Given the description of an element on the screen output the (x, y) to click on. 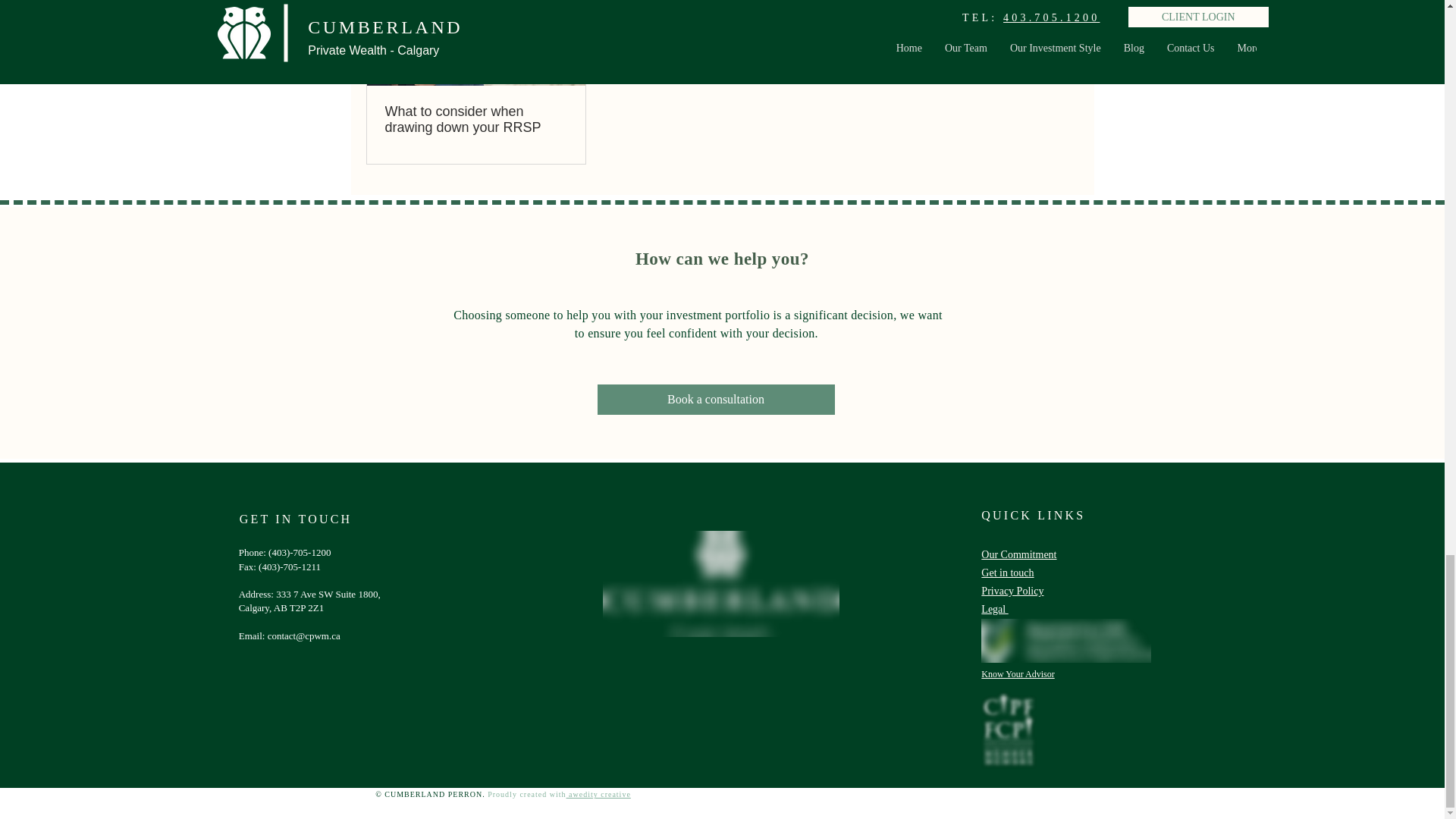
Privacy Policy (1012, 591)
Legal  (994, 609)
Our Commitment (1019, 554)
Get in touch (1007, 572)
Know Your Advisor (1017, 674)
 awedity creative (598, 794)
Book a consultation (715, 399)
What to consider when drawing down your RRSP (476, 119)
